Given the description of an element on the screen output the (x, y) to click on. 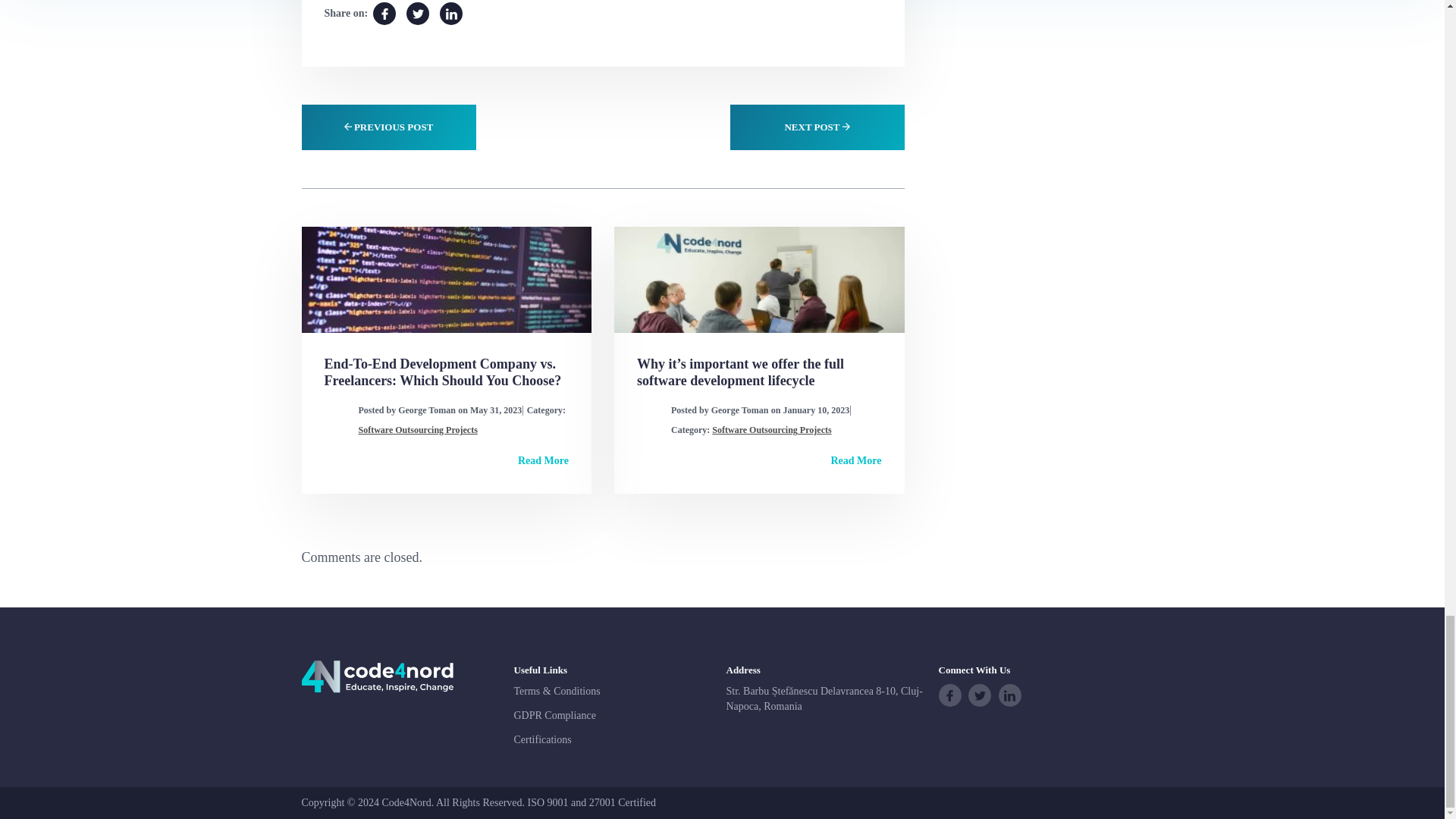
Four Benefits of Software Outsourcing (451, 13)
Read More (543, 460)
Software Outsourcing Projects (417, 429)
Four Benefits of Software Outsourcing (417, 13)
Software Outsourcing Projects (771, 429)
NEXT POST (816, 126)
Read More (856, 460)
PREVIOUS POST (388, 126)
